Given the description of an element on the screen output the (x, y) to click on. 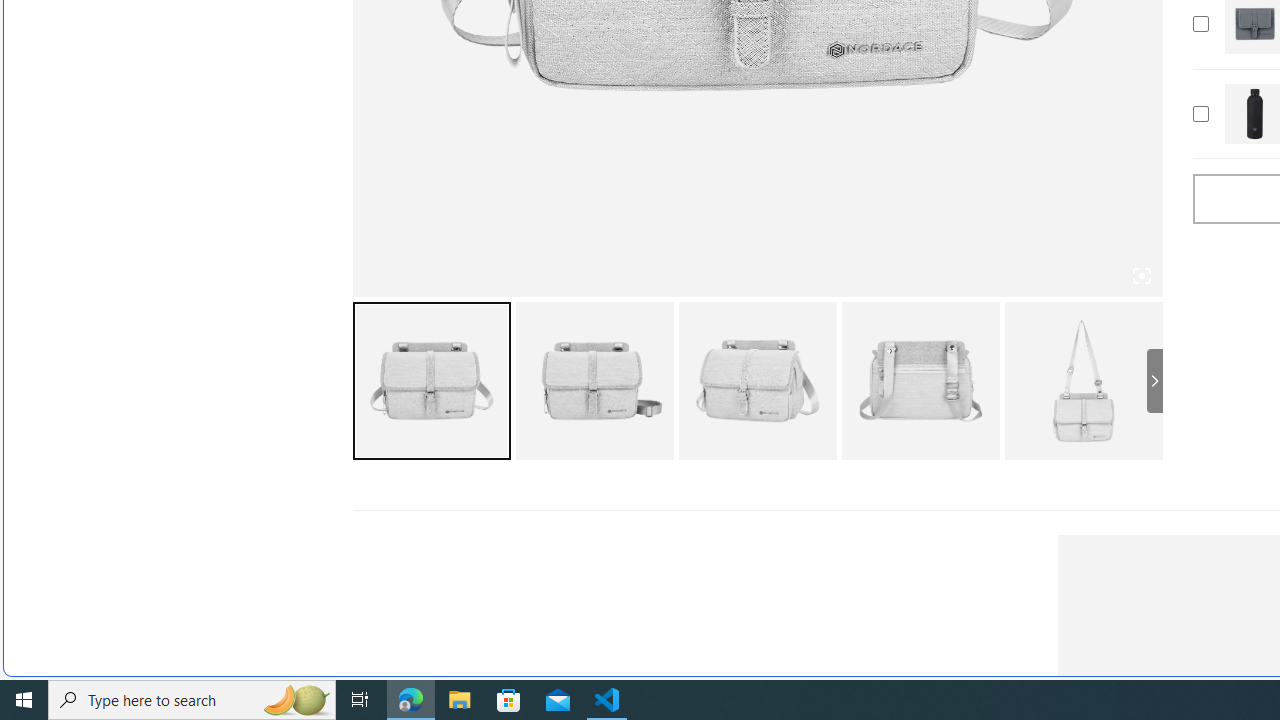
Add this product to cart (1200, 114)
Class: iconic-woothumbs-fullscreen (1140, 276)
